Given the description of an element on the screen output the (x, y) to click on. 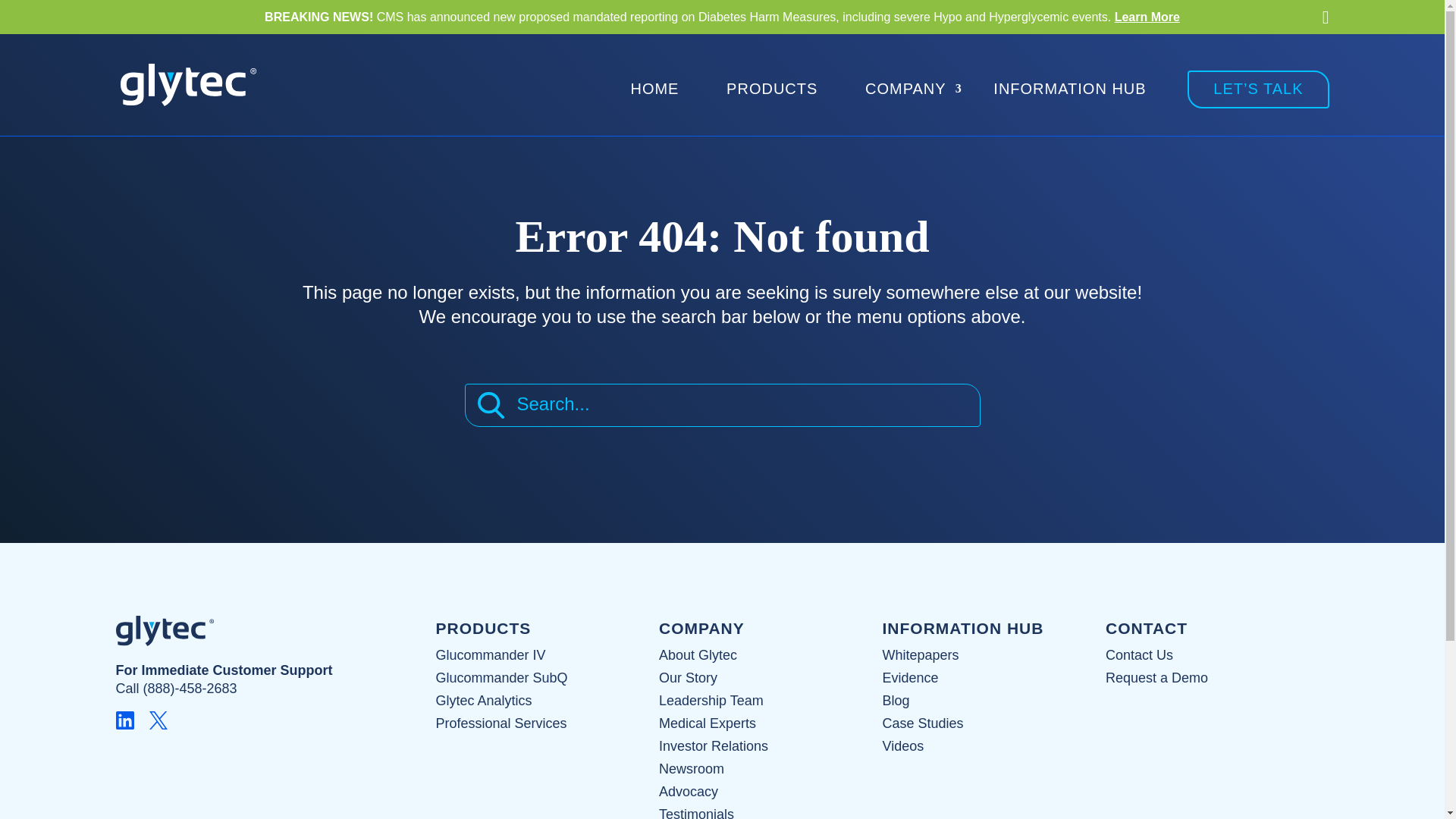
HOME (654, 88)
PRODUCTS (483, 628)
Glytec Analytics (483, 700)
Learn More (1147, 16)
Glucommander IV (489, 654)
PRODUCTS (772, 88)
COMPANY (905, 88)
Professional Services (500, 723)
INFORMATION HUB (1069, 88)
Glucommander SubQ (501, 677)
